Given the description of an element on the screen output the (x, y) to click on. 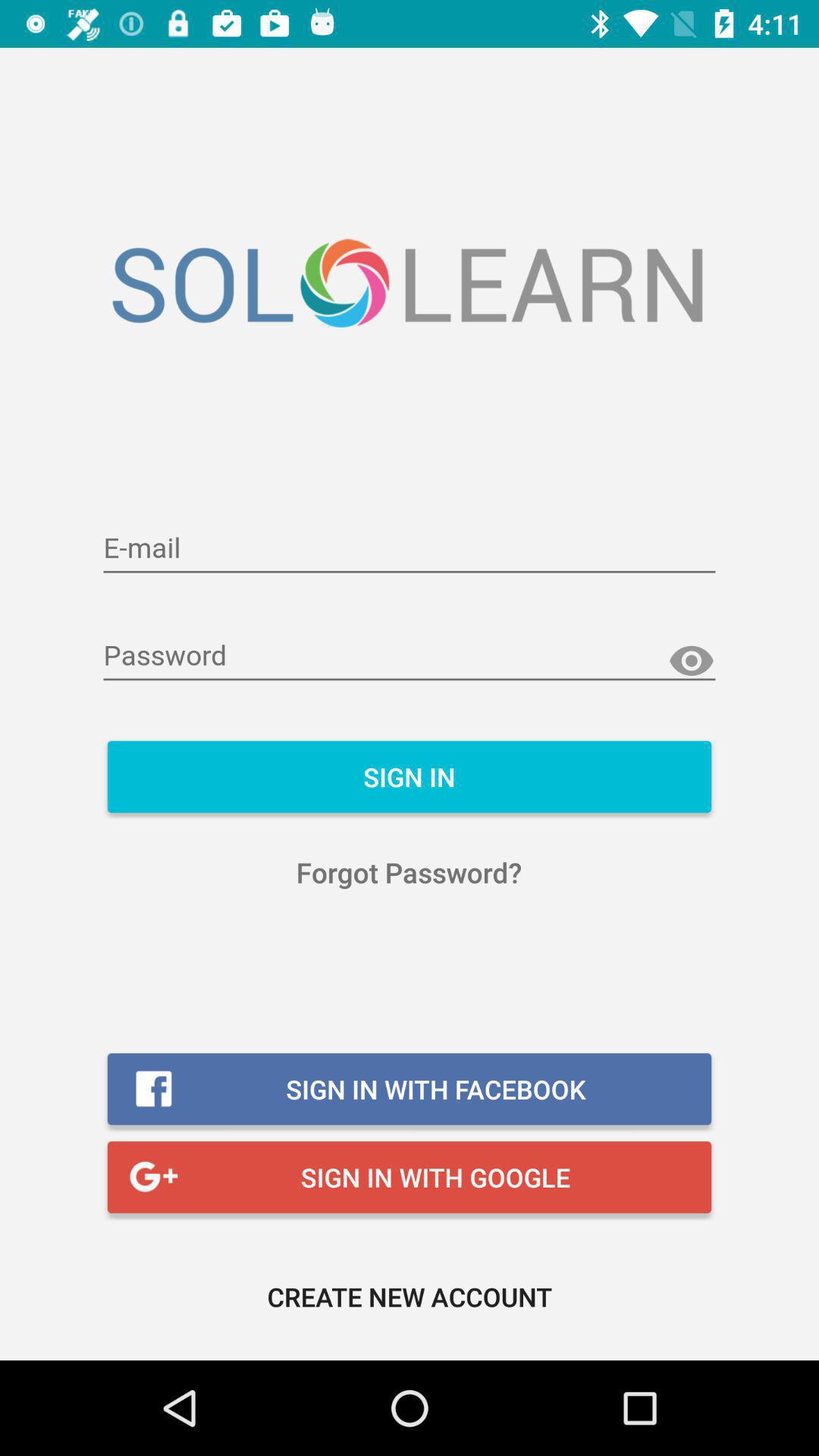
enter email (409, 548)
